Given the description of an element on the screen output the (x, y) to click on. 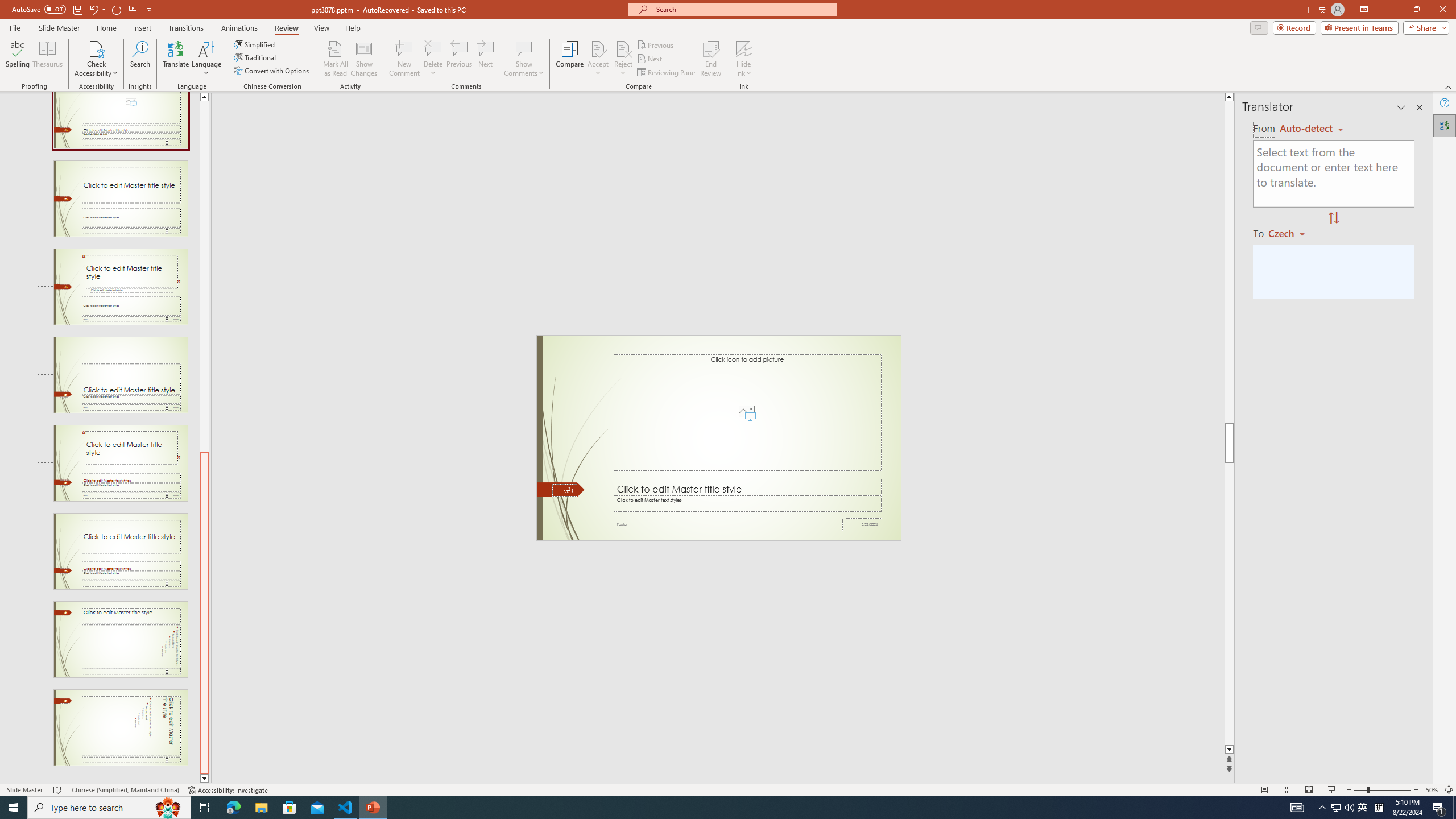
Picture Placeholder 2 (746, 412)
Spelling... (17, 58)
Accept (598, 58)
Compare (569, 58)
Mark All as Read (335, 58)
Check Accessibility (95, 48)
Translate (175, 58)
